Given the description of an element on the screen output the (x, y) to click on. 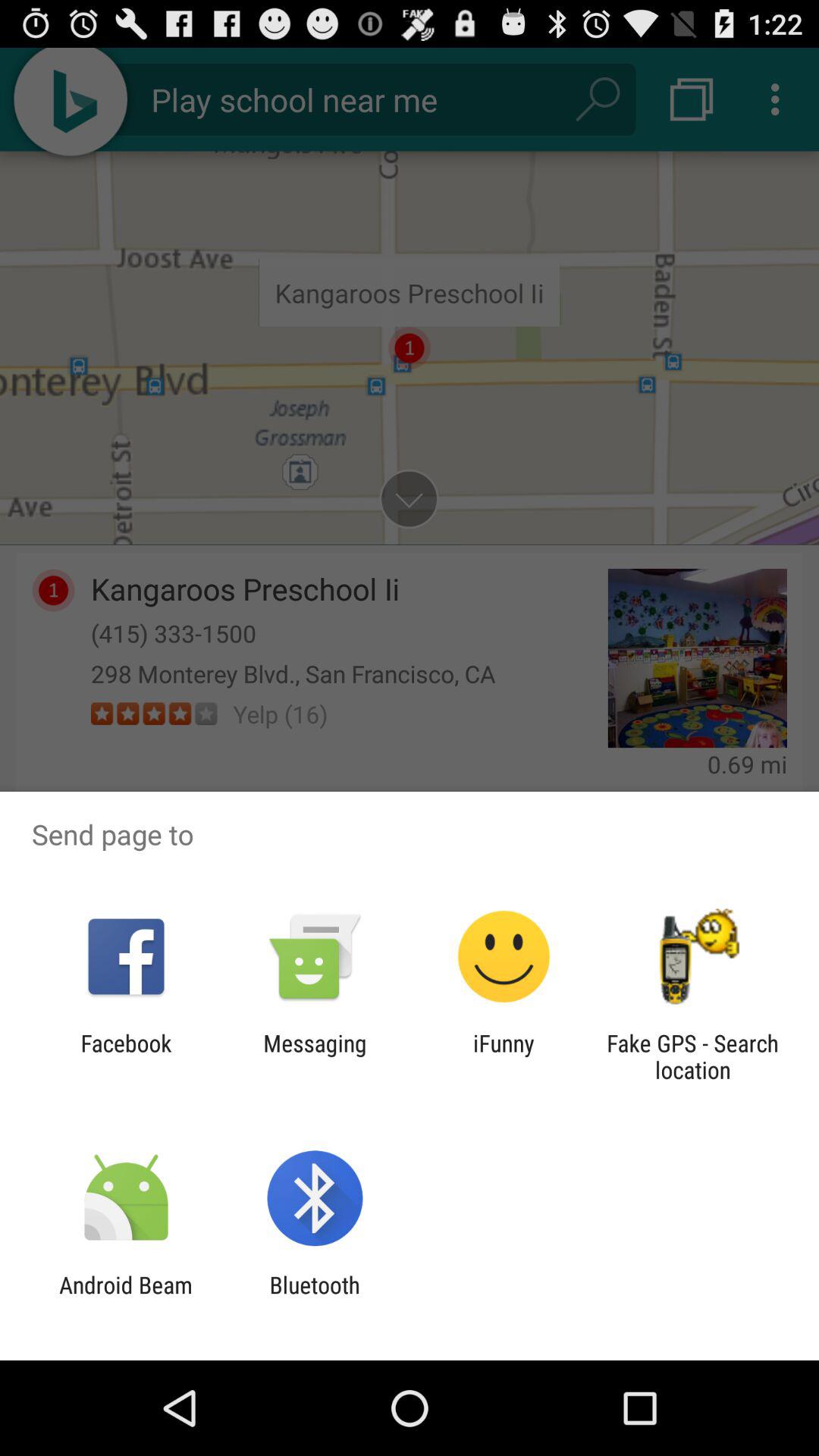
flip to the facebook icon (125, 1056)
